Given the description of an element on the screen output the (x, y) to click on. 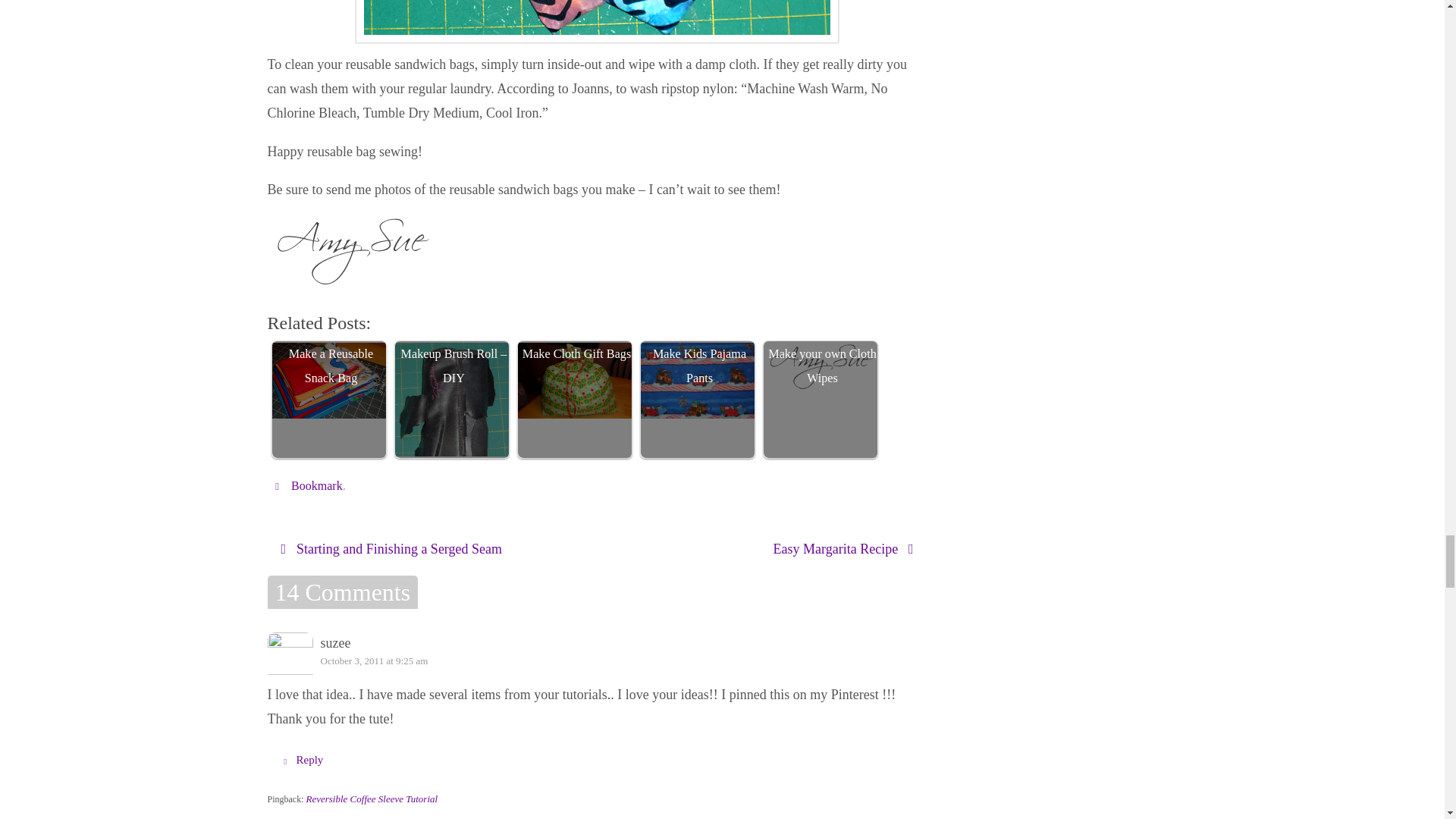
Permalink to Make a Reusable Sandwich Bag (316, 486)
Make Cloth Gift Bags (575, 398)
 Bookmark the permalink (278, 485)
Starting and Finishing a Serged Seam (427, 548)
Reply (300, 759)
Make Kids Pajama Pants (697, 380)
Easy Margarita Recipe (765, 548)
Make Kids Pajama Pants (699, 398)
Bookmark (316, 486)
October 3, 2011 at 9:25 am (374, 660)
Make Cloth Gift Bags (573, 380)
Make a Reusable Snack Bag (327, 380)
Make your own Cloth Wipes (821, 398)
Reversible Coffee Sleeve Tutorial (371, 798)
Make your own Cloth Wipes (819, 367)
